Given the description of an element on the screen output the (x, y) to click on. 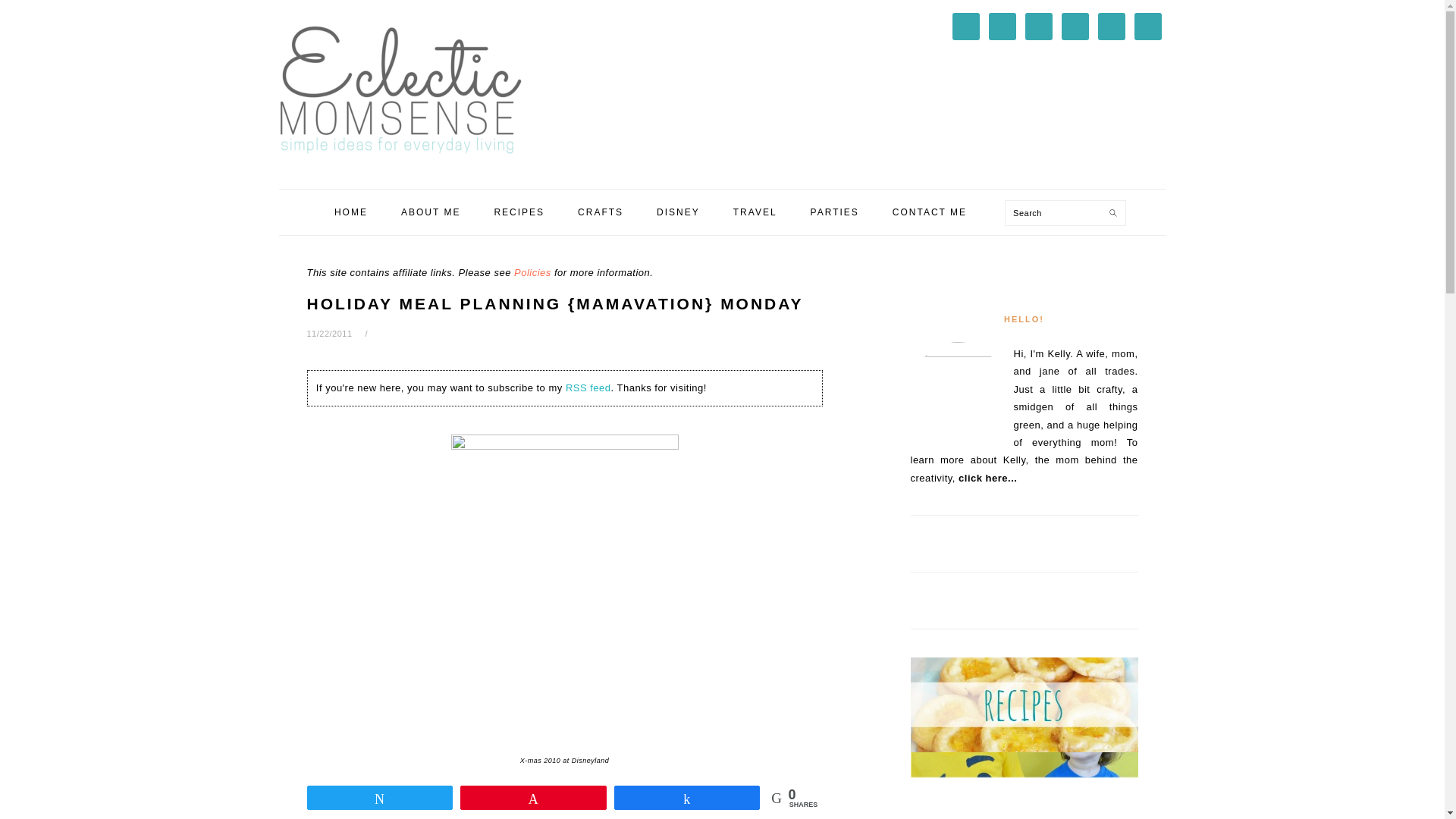
RECIPES (518, 212)
ECLECTIC MOMSENSE (400, 89)
CRAFTS (600, 212)
click here... (987, 478)
ABOUT ME (430, 212)
DISNEY (678, 212)
Policies (532, 272)
HOME (351, 212)
CONTACT ME (929, 212)
TRAVEL (755, 212)
PARTIES (834, 212)
RSS feed (588, 387)
